Given the description of an element on the screen output the (x, y) to click on. 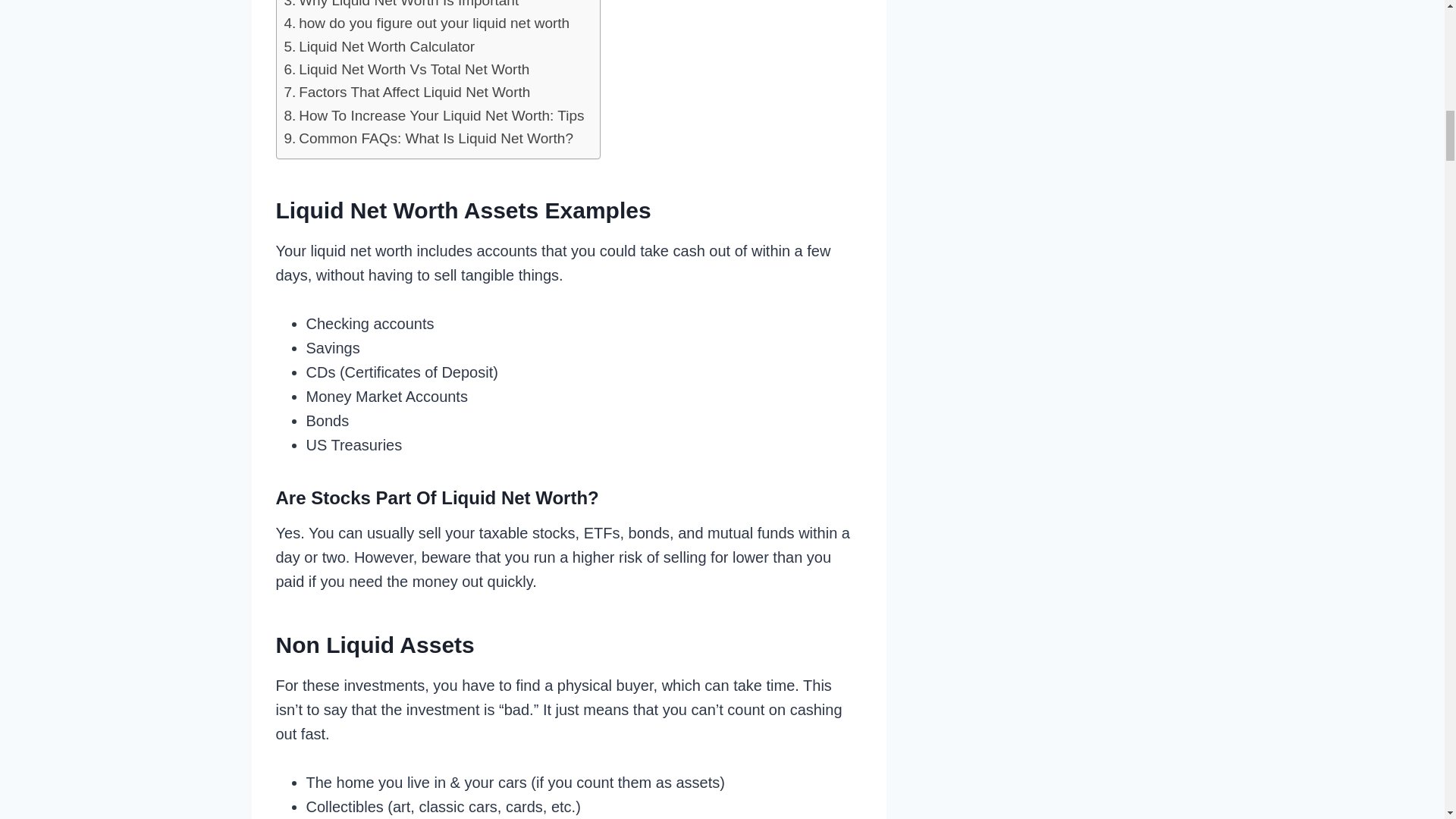
Liquid Net Worth Calculator (378, 47)
Why Liquid Net Worth Is Important (400, 6)
How To Increase Your Liquid Net Worth: Tips (433, 115)
Why Liquid Net Worth Is Important (400, 6)
how do you figure out your liquid net worth (426, 23)
Factors That Affect Liquid Net Worth (406, 92)
Liquid Net Worth Calculator (378, 47)
Liquid Net Worth Vs Total Net Worth (406, 69)
Common FAQs: What Is Liquid Net Worth? (428, 138)
Liquid Net Worth Vs Total Net Worth (406, 69)
